Given the description of an element on the screen output the (x, y) to click on. 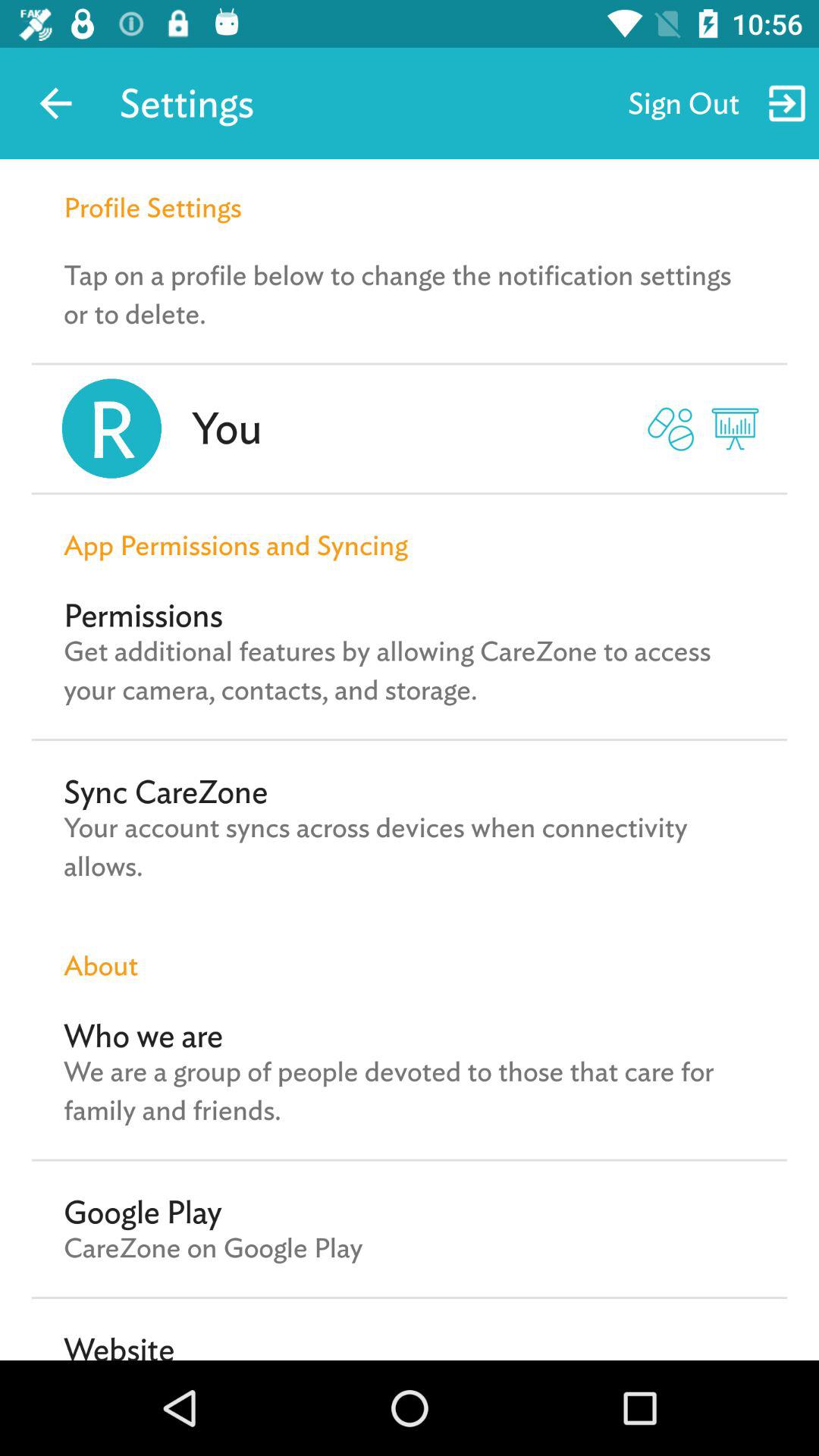
turn off the sync carezone item (165, 791)
